Given the description of an element on the screen output the (x, y) to click on. 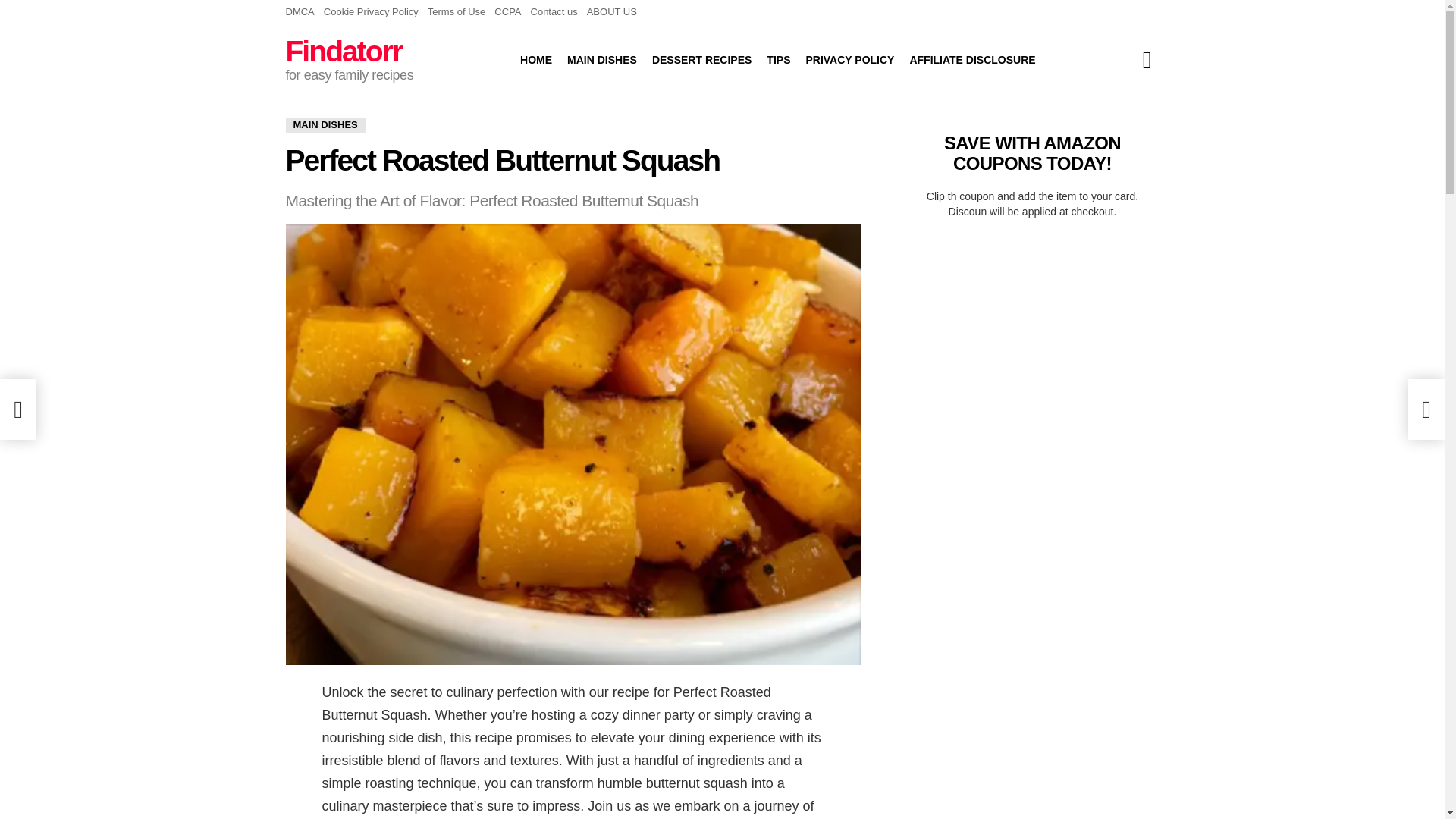
PRIVACY POLICY (849, 59)
CCPA (508, 12)
MAIN DISHES (325, 124)
TIPS (777, 59)
SAVE WITH AMAZON COUPONS TODAY! (1032, 152)
DMCA (299, 12)
Cookie Privacy Policy (371, 12)
MAIN DISHES (602, 59)
DESSERT RECIPES (701, 59)
Terms of Use (457, 12)
